Given the description of an element on the screen output the (x, y) to click on. 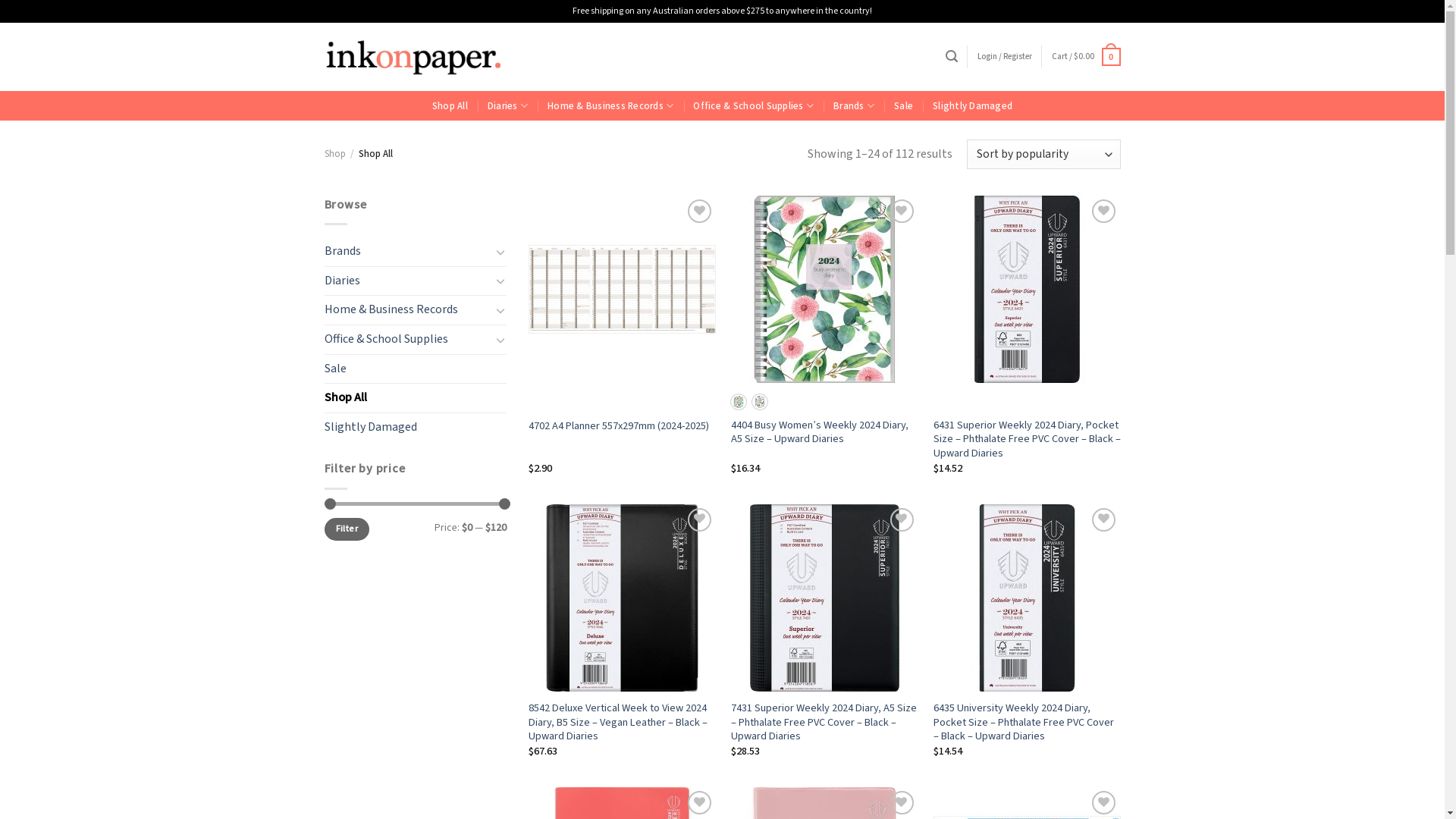
Sale Element type: text (903, 105)
Shop All Element type: text (415, 397)
Shop All Element type: text (449, 105)
Login / Register Element type: text (1004, 56)
Diaries Element type: text (407, 280)
Home & Business Records Element type: text (610, 105)
Slightly Damaged Element type: text (972, 105)
Slightly Damaged Element type: text (415, 427)
Filter Element type: text (347, 529)
4702 A4 Planner 557x297mm (2024-2025) Element type: text (618, 426)
Office & School Supplies Element type: text (753, 105)
Shop Element type: text (334, 153)
Home & Business Records Element type: text (407, 309)
Diaries Element type: text (507, 105)
Sale Element type: text (415, 368)
Cart / $0.00
0 Element type: text (1085, 56)
Brands Element type: text (853, 105)
Office & School Supplies Element type: text (407, 339)
Skip to content Element type: text (0, 0)
INKonPAPER - Stationary & Office Accessories Element type: hover (413, 56)
Brands Element type: text (407, 251)
